Given the description of an element on the screen output the (x, y) to click on. 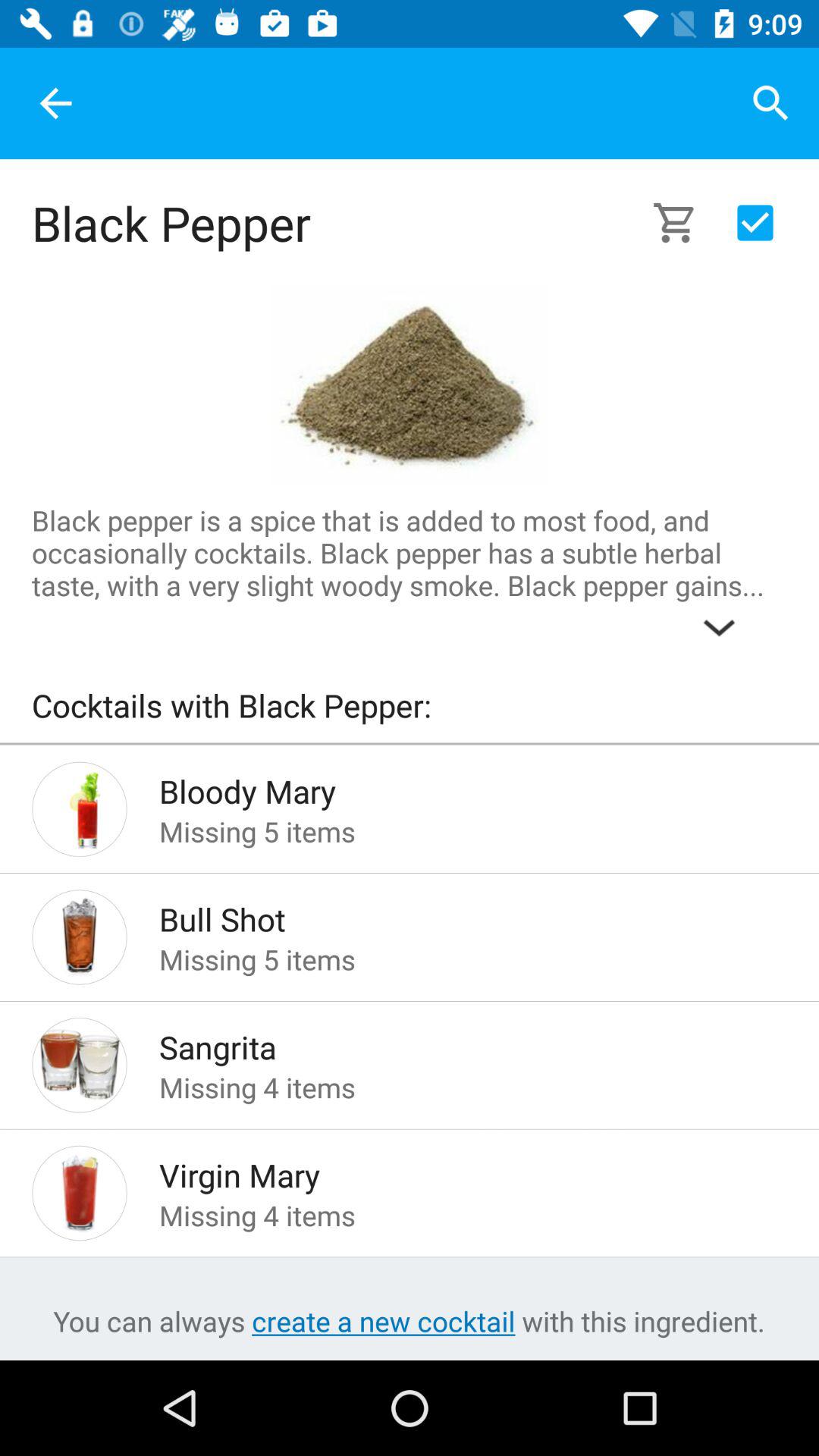
scroll until bull shot icon (449, 914)
